Given the description of an element on the screen output the (x, y) to click on. 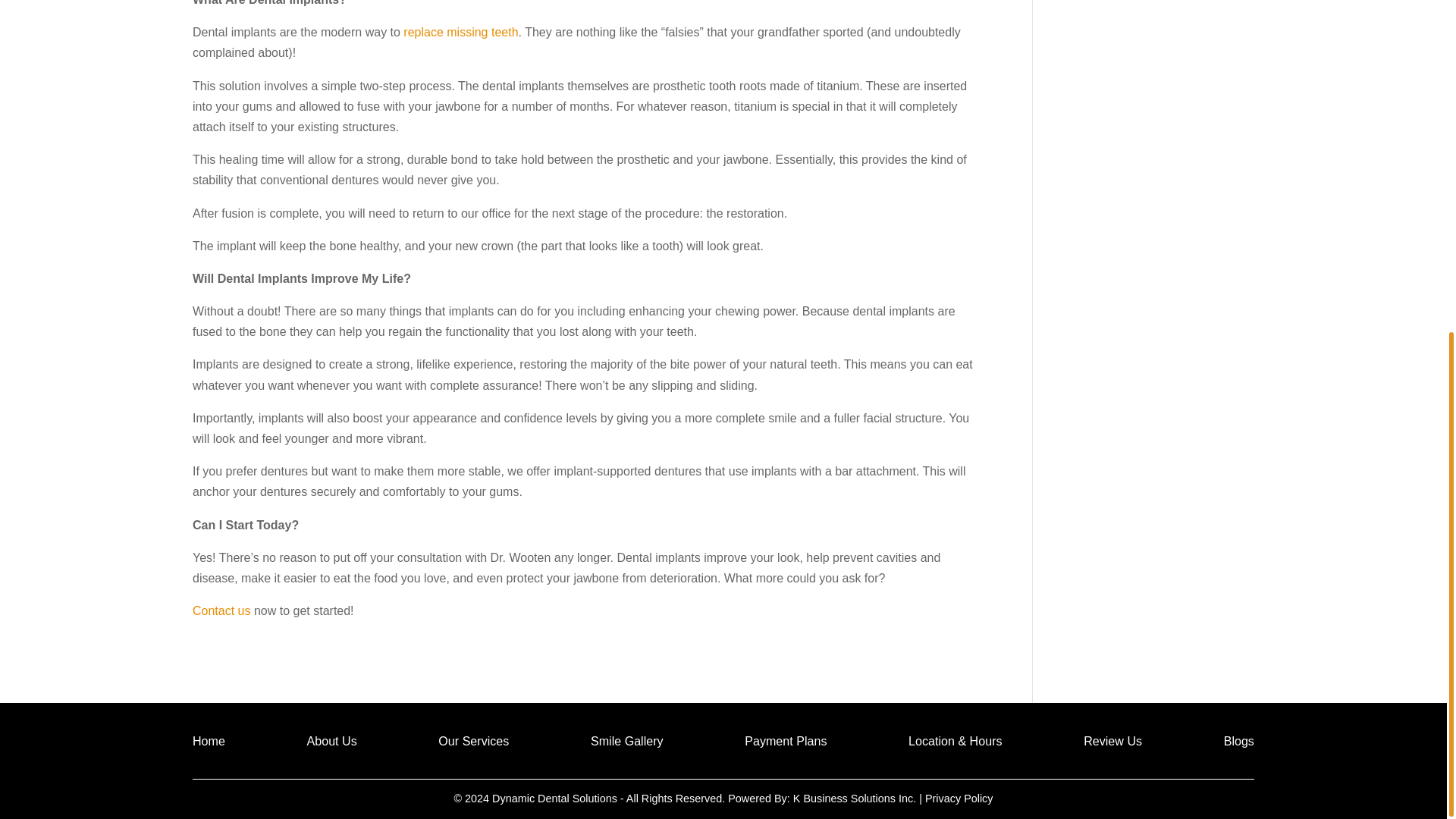
replace missing teeth (460, 31)
Contact us (221, 610)
Blogs (1238, 743)
About Us (331, 743)
Payment Plans (785, 743)
K Business Solutions Inc. (854, 798)
Our Services (473, 743)
Privacy Policy (958, 798)
Review Us (1112, 743)
Home (208, 743)
